Given the description of an element on the screen output the (x, y) to click on. 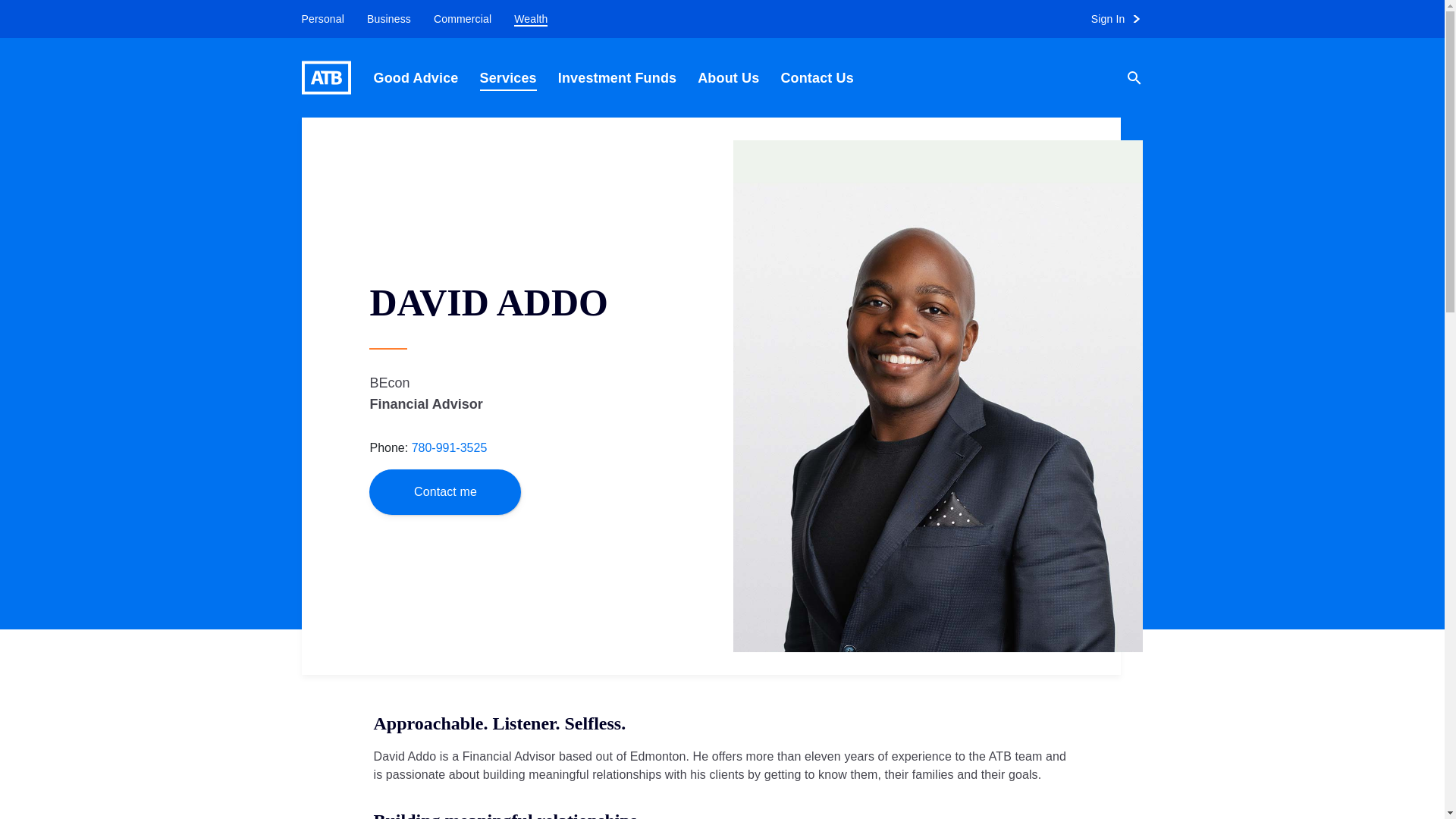
About Us (728, 77)
Contact me (445, 491)
Good Advice (415, 77)
Wealth (530, 19)
780-991-3525 (449, 447)
Business (388, 19)
Sign In (1122, 19)
Commercial (462, 19)
Contact Us (817, 77)
Services (507, 77)
Investment Funds (617, 77)
Personal (317, 19)
